Given the description of an element on the screen output the (x, y) to click on. 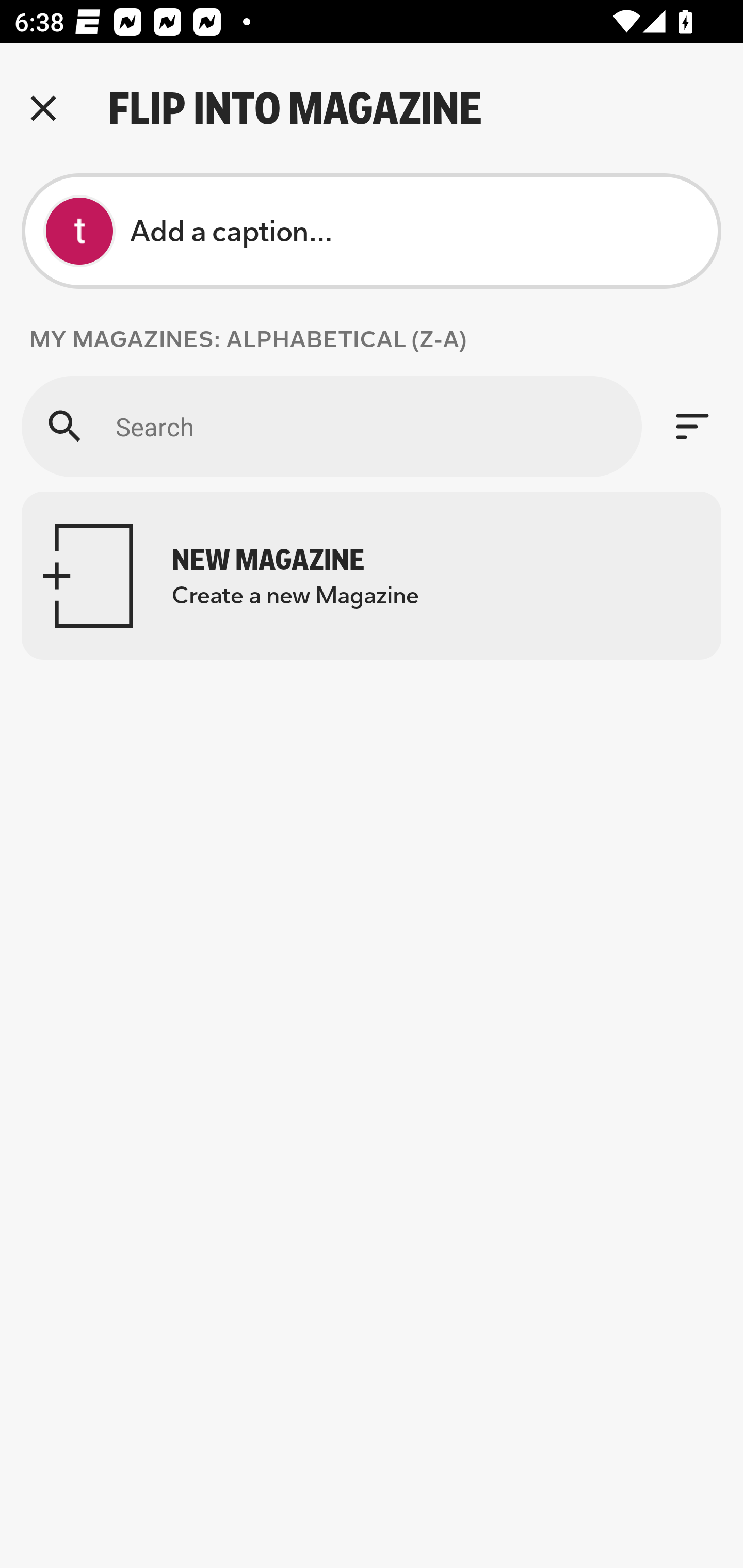
test appium Add a caption… (371, 231)
Search (331, 426)
NEW MAGAZINE Create a new Magazine (371, 575)
